Given the description of an element on the screen output the (x, y) to click on. 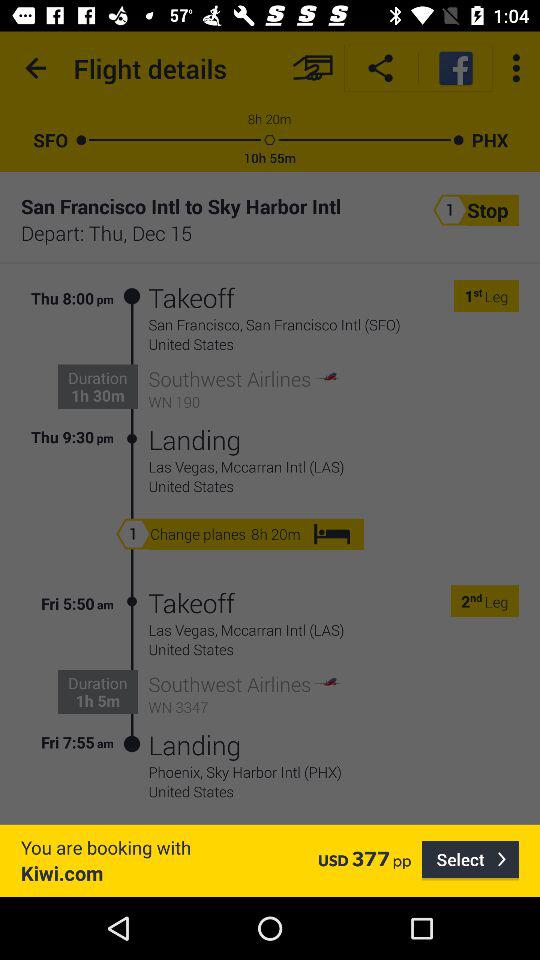
checkout (312, 67)
